Given the description of an element on the screen output the (x, y) to click on. 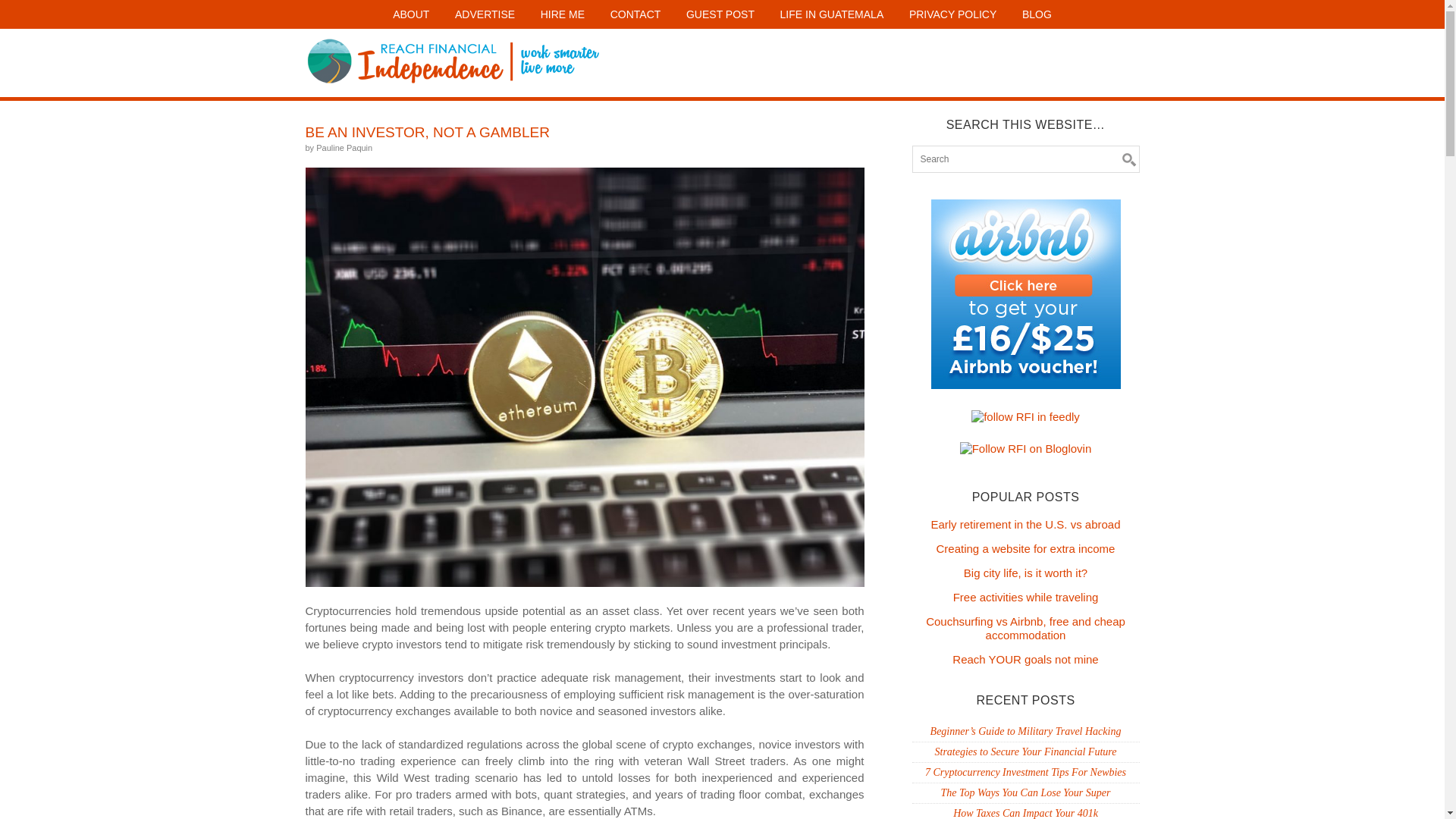
Strategies to Secure Your Financial Future (1025, 751)
GUEST POST (720, 13)
CONTACT (635, 13)
PRIVACY POLICY (952, 13)
HIRE ME (562, 13)
BLOG (1036, 13)
Big city life, is it worth it? (1025, 572)
ABOUT (411, 13)
Early retirement in the U.S. vs abroad (1024, 523)
LIFE IN GUATEMALA (831, 13)
Free activities while traveling (1026, 596)
Reach YOUR goals not mine (1024, 658)
7 Cryptocurrency Investment Tips For Newbies (1024, 772)
